Given the description of an element on the screen output the (x, y) to click on. 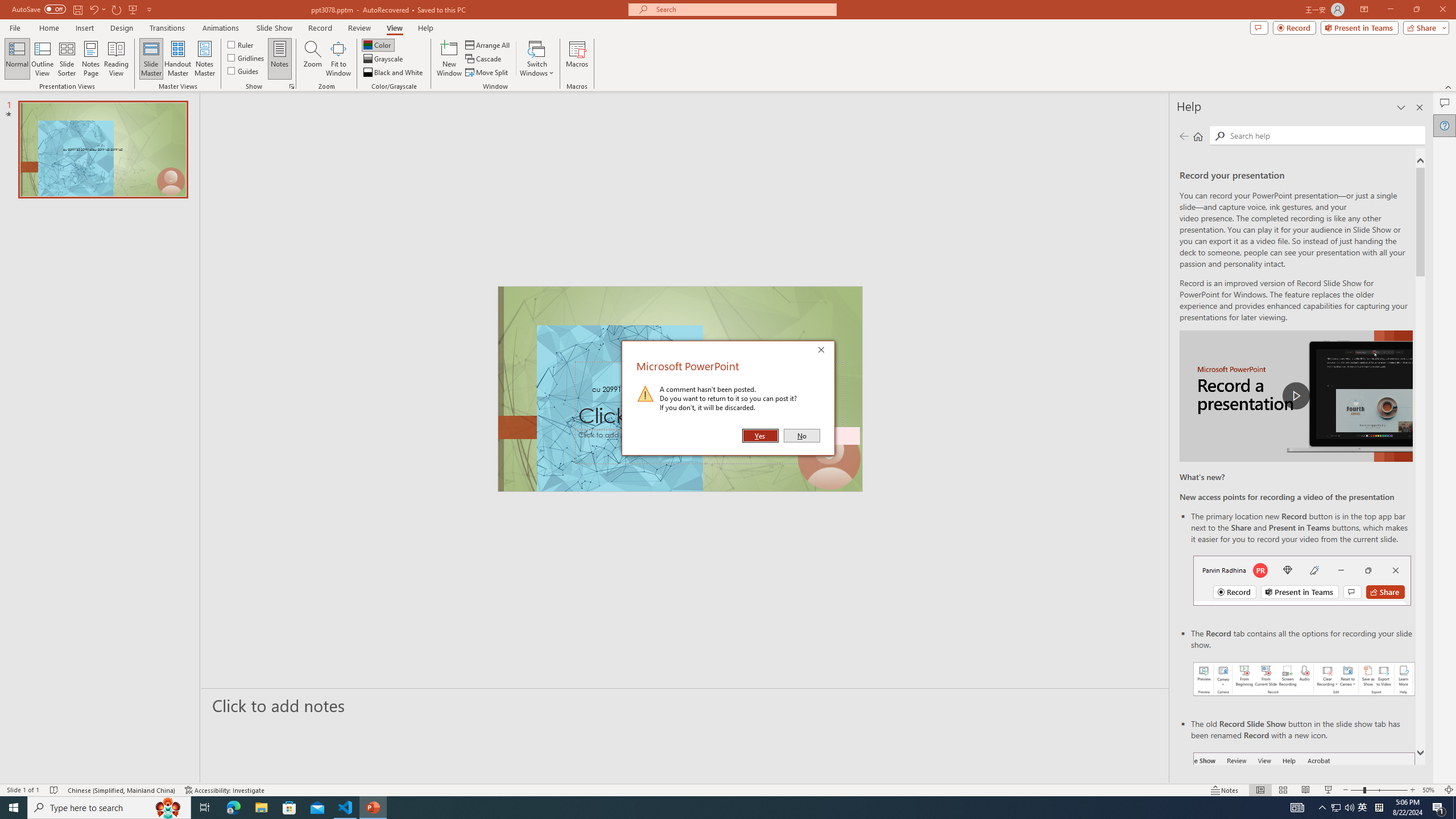
Spell Check No Errors (54, 790)
Restore Down (1416, 9)
No (801, 435)
Notes Page (90, 58)
AutoSave (38, 9)
Reading View (1305, 790)
Quick Access Toolbar (82, 9)
Move Split (487, 72)
Slide Master (151, 58)
Grid Settings... (291, 85)
Record your presentations screenshot one (1304, 678)
Zoom... (312, 58)
